Given the description of an element on the screen output the (x, y) to click on. 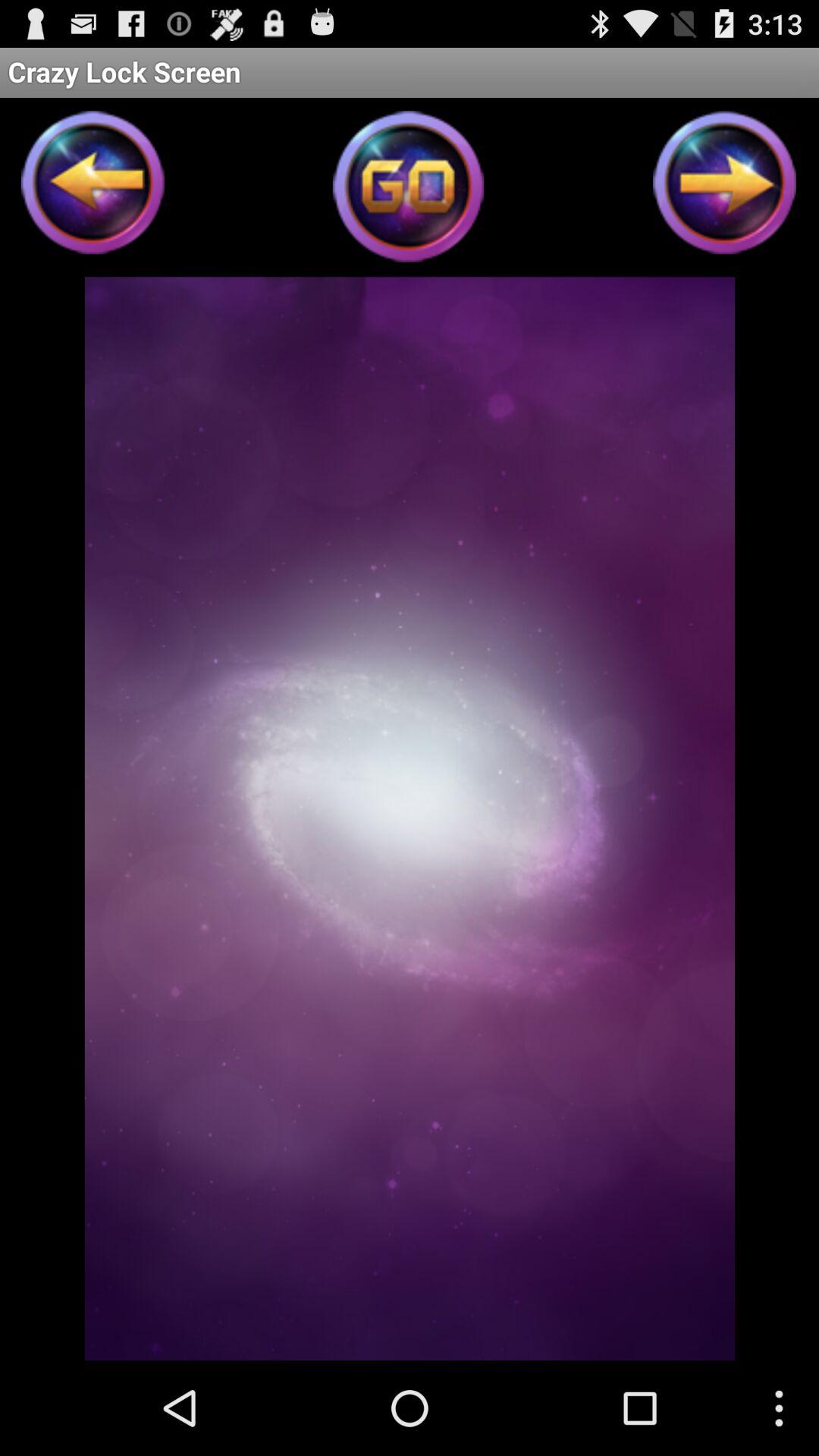
go (408, 190)
